Given the description of an element on the screen output the (x, y) to click on. 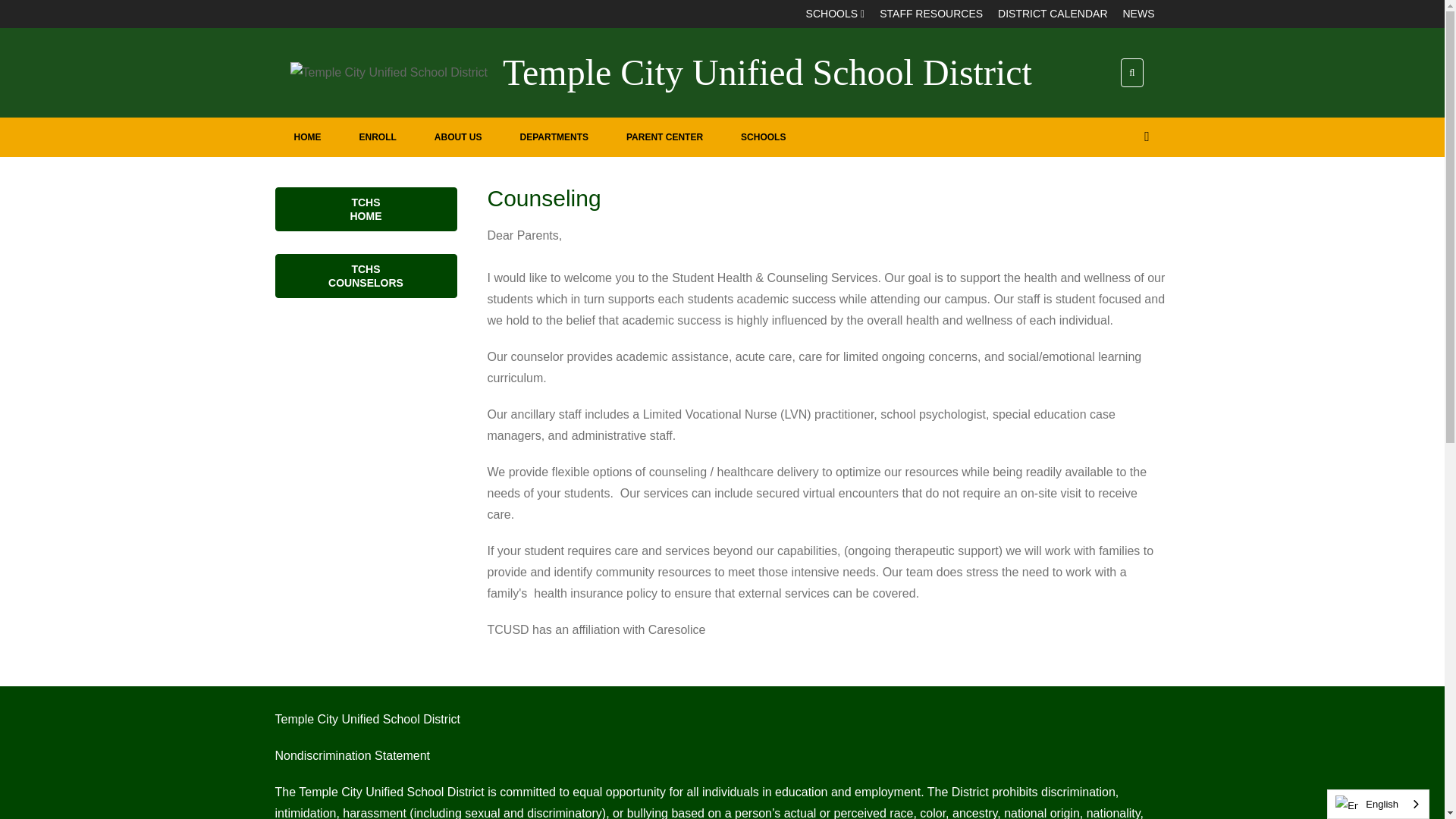
STAFF RESOURCES (930, 13)
Temple City Unified School District (767, 72)
Temple City Unified School District (767, 72)
NEWS (1138, 13)
HOME (307, 137)
DEPARTMENTS (553, 137)
Temple City Unified School District (388, 72)
SCHOOLS (835, 13)
Temple City Unified School District (388, 72)
ENROLL (376, 137)
